Given the description of an element on the screen output the (x, y) to click on. 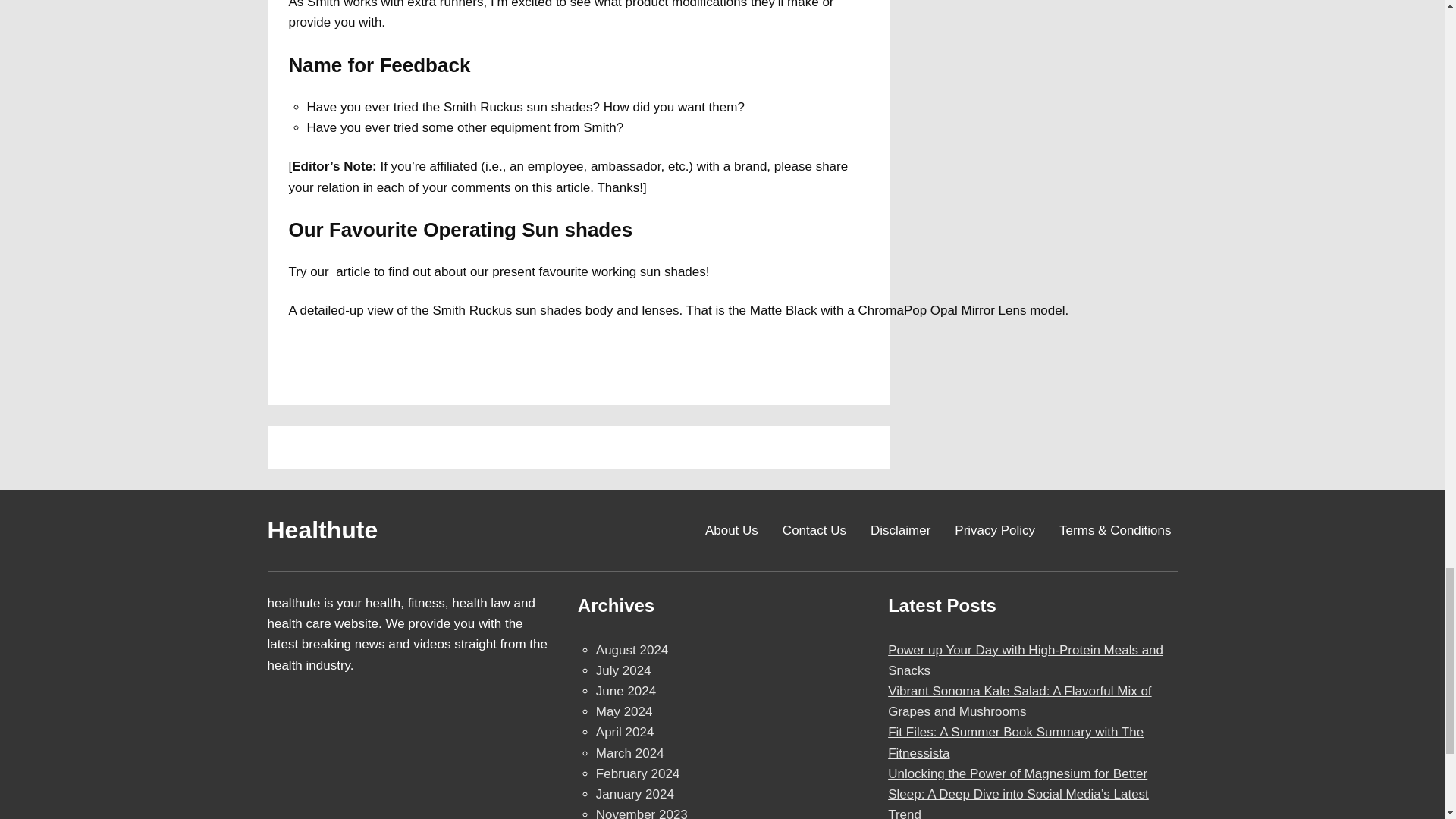
Disclaimer (900, 530)
Privacy Policy (995, 530)
About Us (731, 530)
Contact Us (813, 530)
Healthute (321, 529)
